Given the description of an element on the screen output the (x, y) to click on. 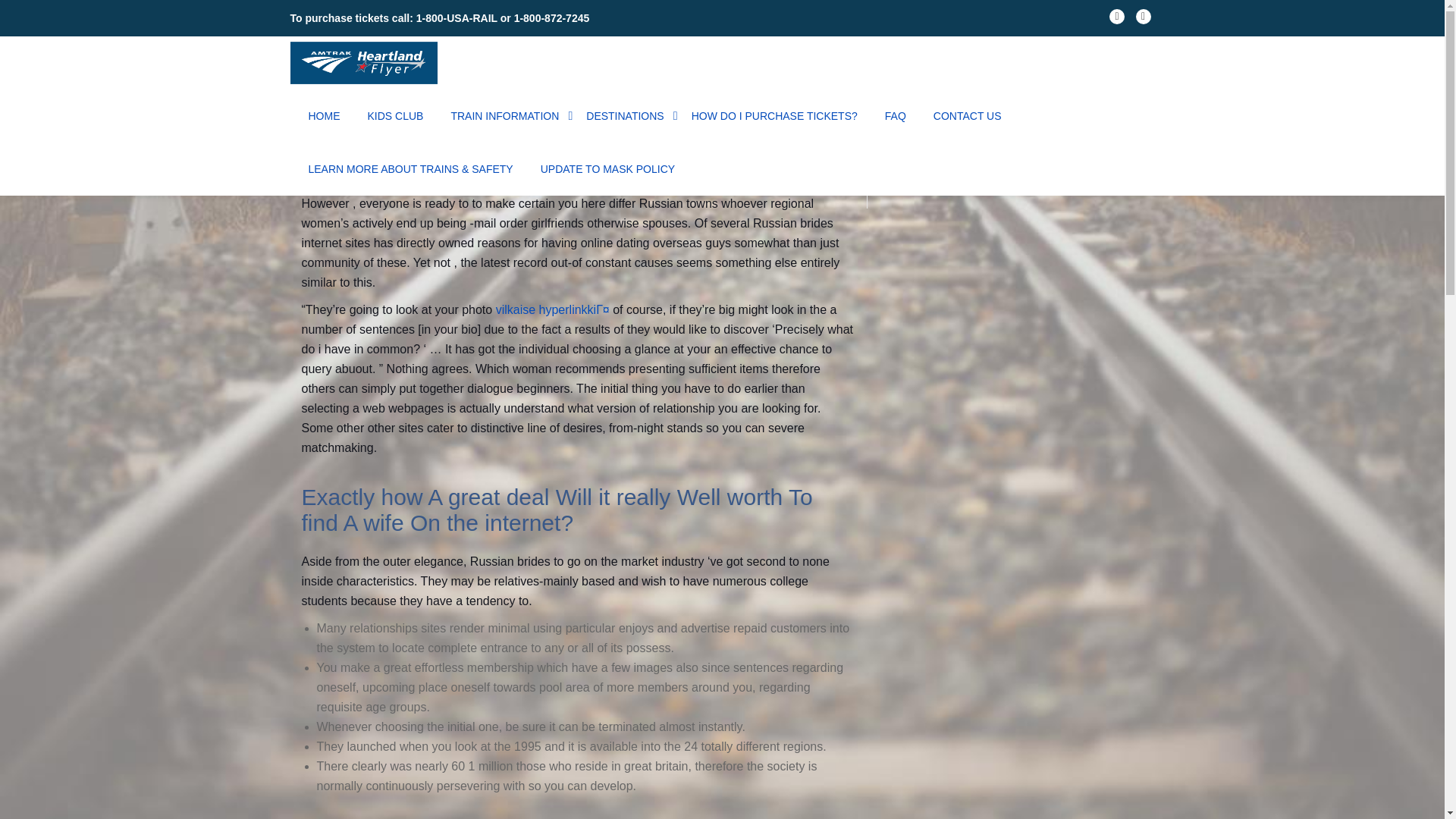
fa-facebook (1116, 19)
UPDATE TO MASK POLICY (607, 169)
Search (1122, 145)
CONTACT US (967, 115)
KIDS CLUB (394, 115)
fa-twitter (1143, 19)
HOW DO I PURCHASE TICKETS? (774, 115)
Search (1122, 145)
DESTINATIONS (624, 115)
HOME (323, 115)
